Given the description of an element on the screen output the (x, y) to click on. 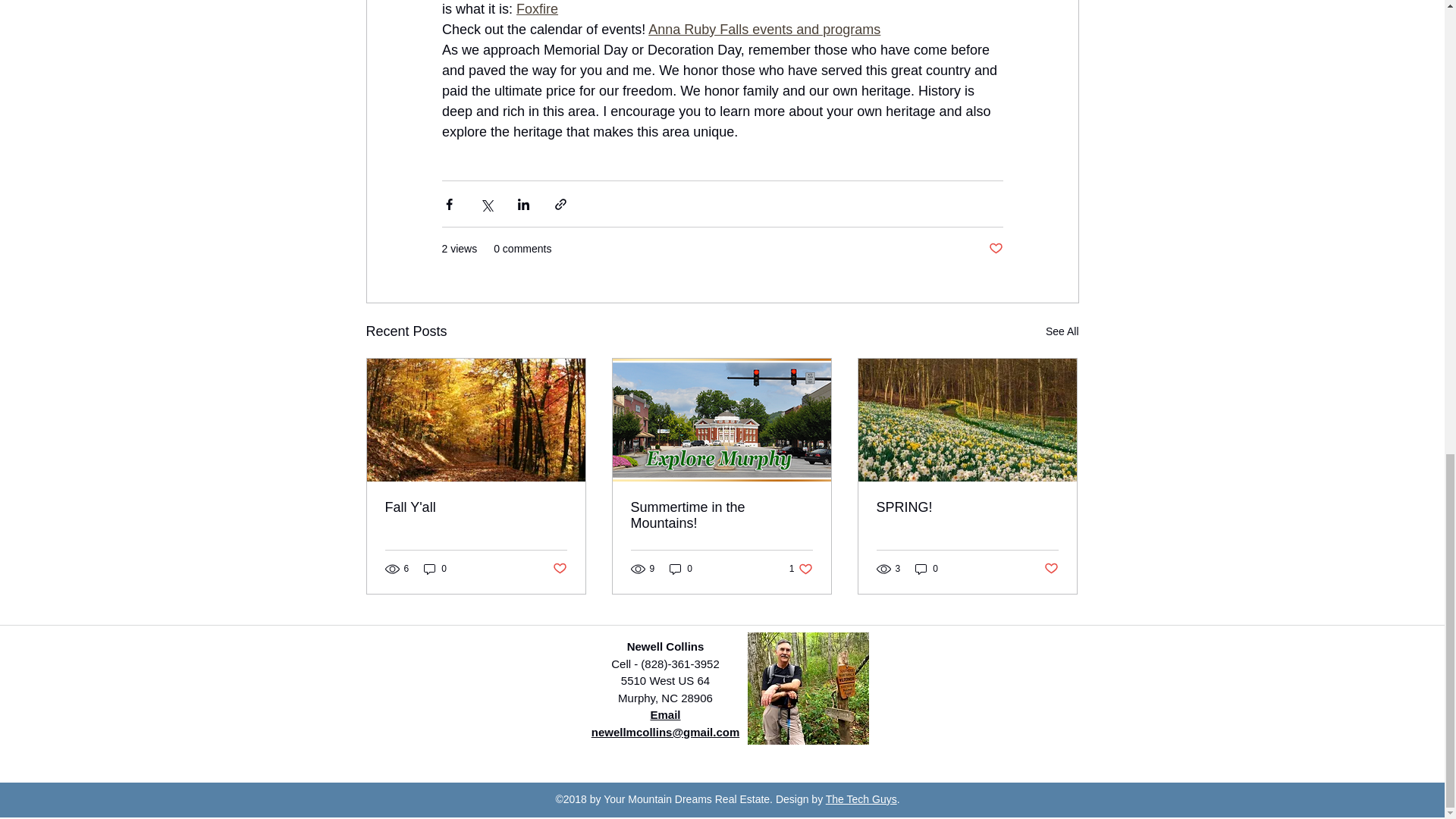
Post not marked as liked (995, 248)
Post not marked as liked (800, 568)
Anna Ruby Falls events and programs (558, 568)
Foxfire (763, 29)
0 (536, 8)
Summertime in the Mountains! (435, 568)
SPRING! (721, 515)
See All (967, 507)
Fall Y'all (1061, 332)
0 (476, 507)
